Given the description of an element on the screen output the (x, y) to click on. 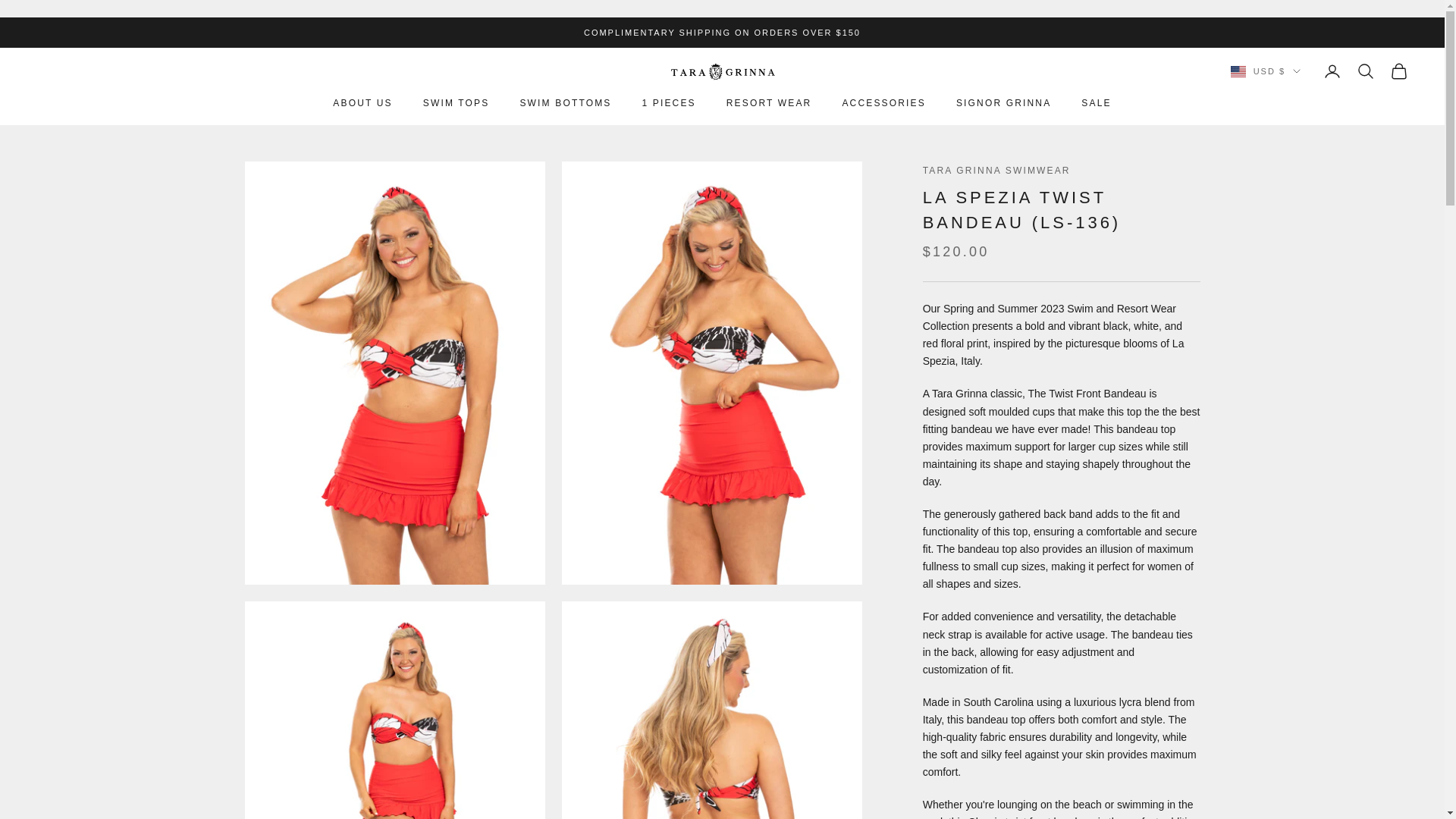
ABOUT US (362, 102)
TARA GRINNA SWIMWEAR (721, 71)
